Given the description of an element on the screen output the (x, y) to click on. 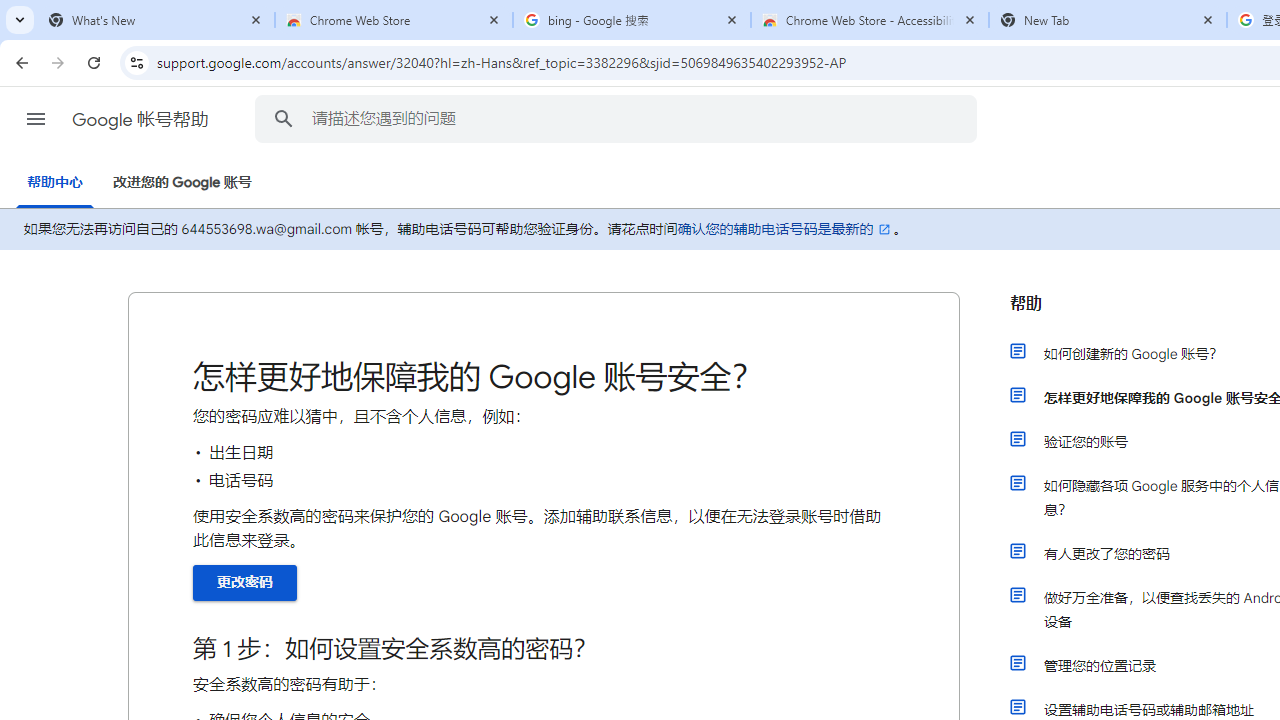
Chrome Web Store - Accessibility (870, 20)
